Given the description of an element on the screen output the (x, y) to click on. 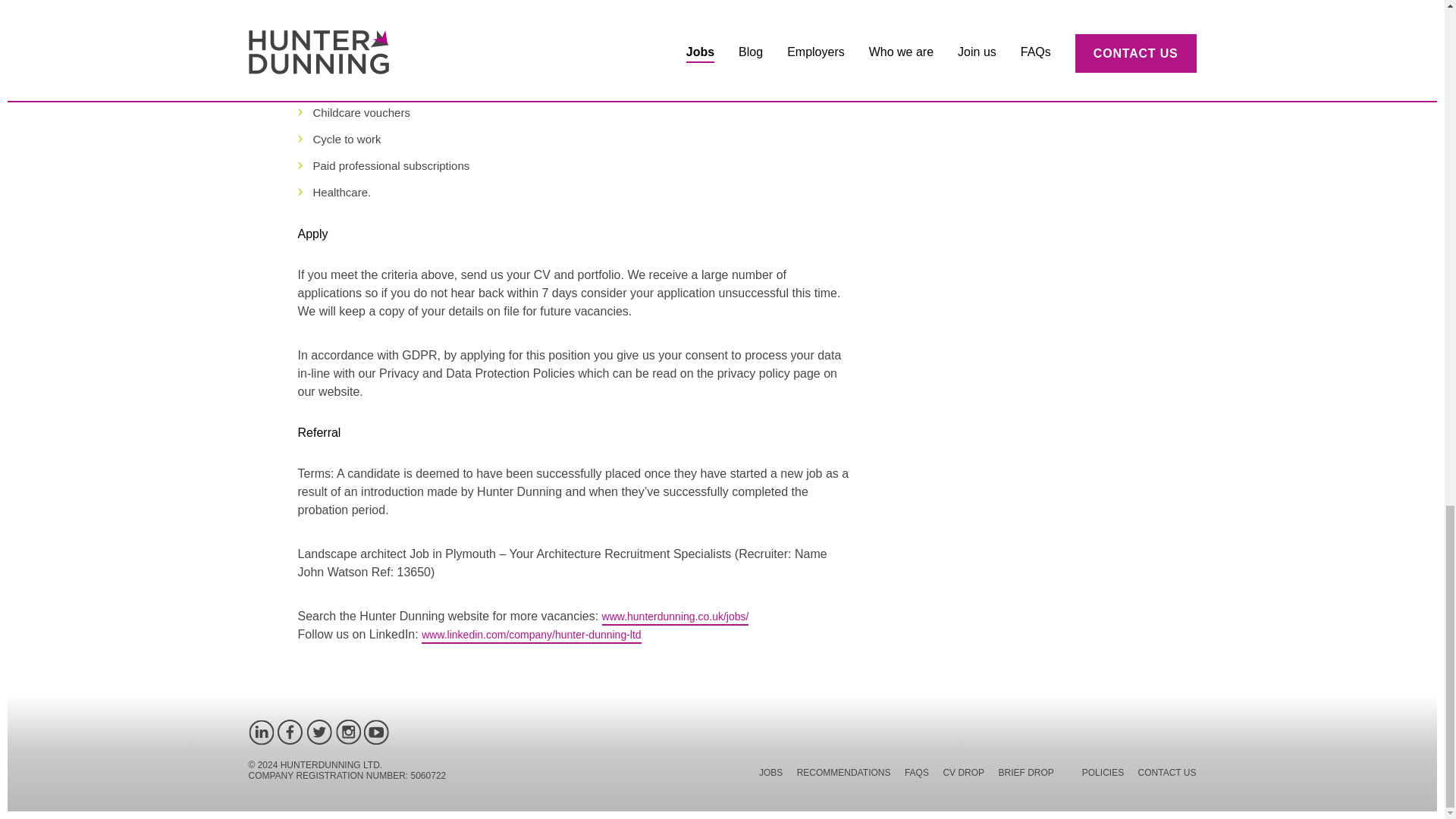
BRIEF DROP (1026, 774)
JOBS (770, 774)
RECOMMENDATIONS (843, 774)
CV DROP (963, 774)
FAQS (916, 774)
